Given the description of an element on the screen output the (x, y) to click on. 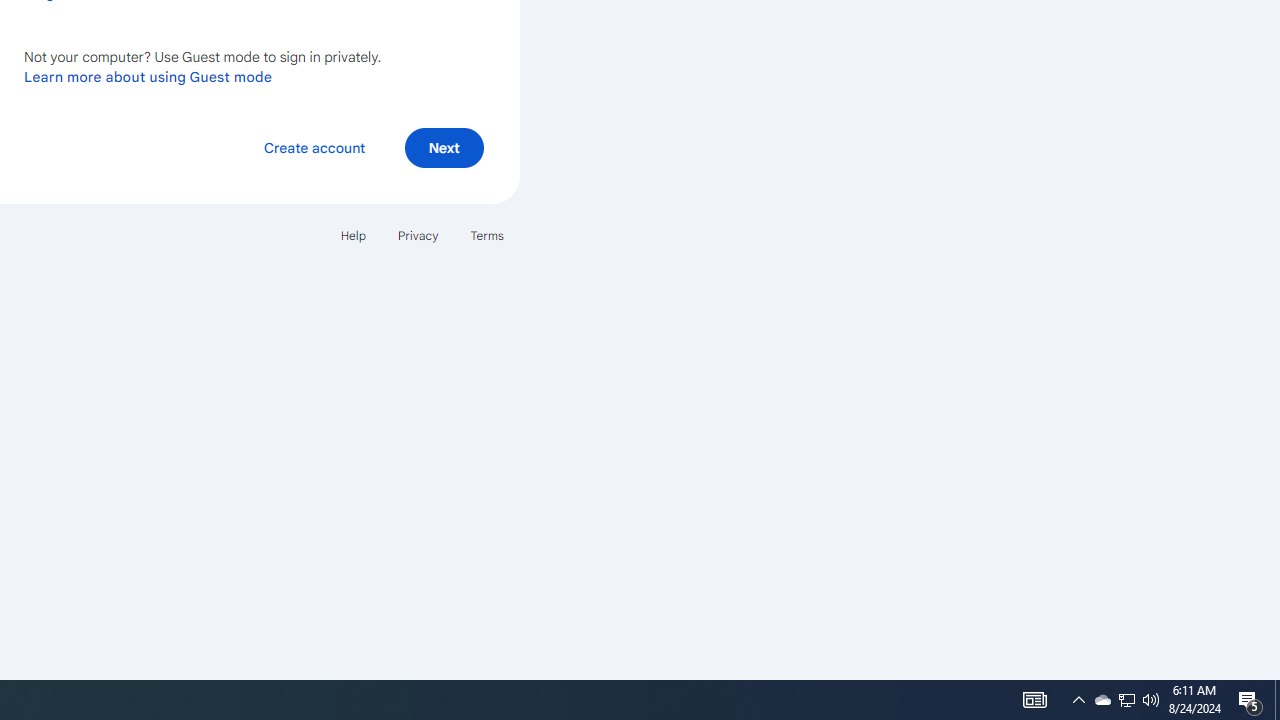
Create account (314, 146)
Learn more about using Guest mode (148, 76)
Next (443, 146)
